Given the description of an element on the screen output the (x, y) to click on. 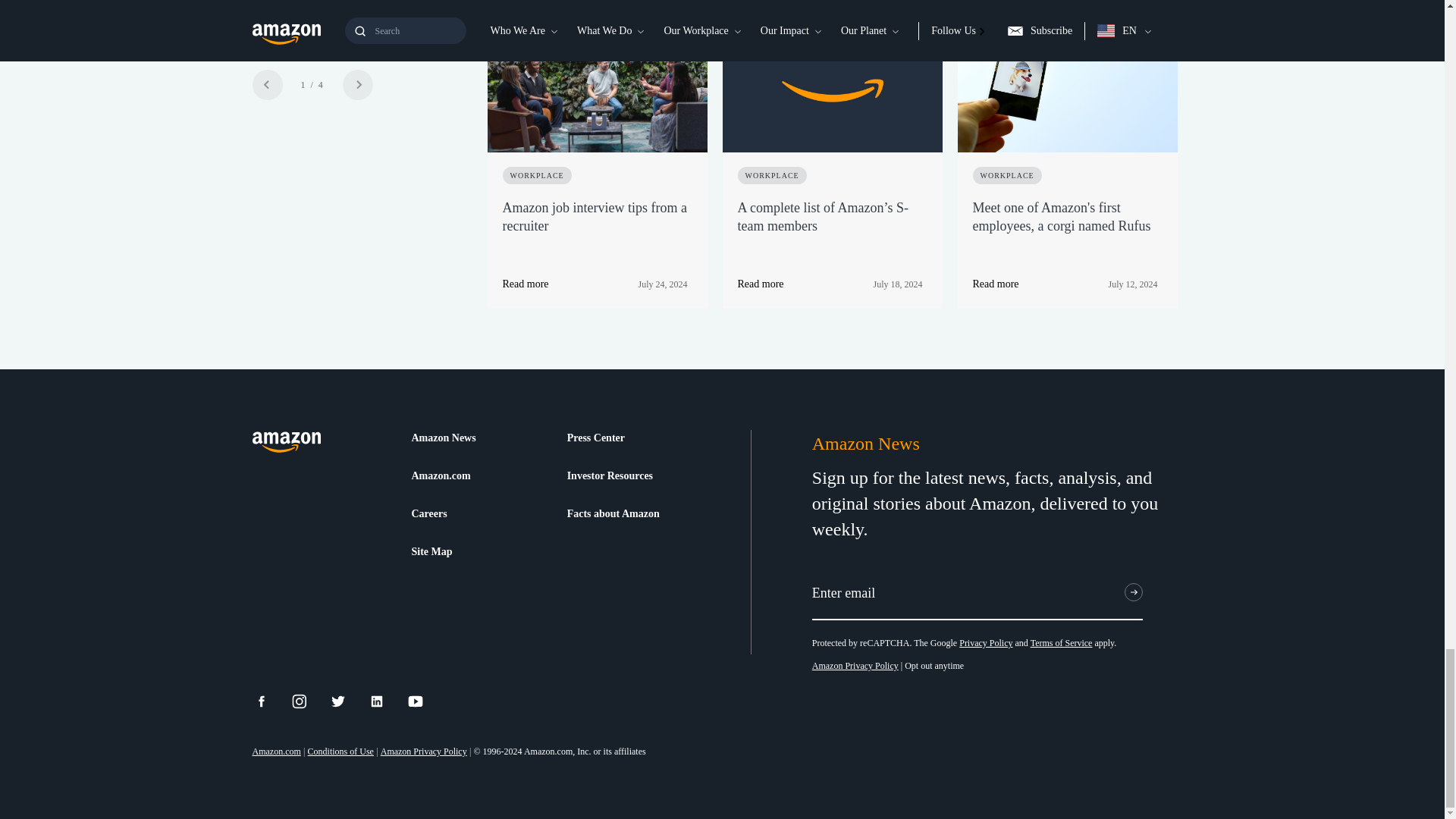
Facebook Share (269, 701)
Twitter Share (347, 701)
LinkedIn Share (386, 701)
Instagram (308, 701)
YouTube (425, 701)
About Amazon Home (285, 442)
